Given the description of an element on the screen output the (x, y) to click on. 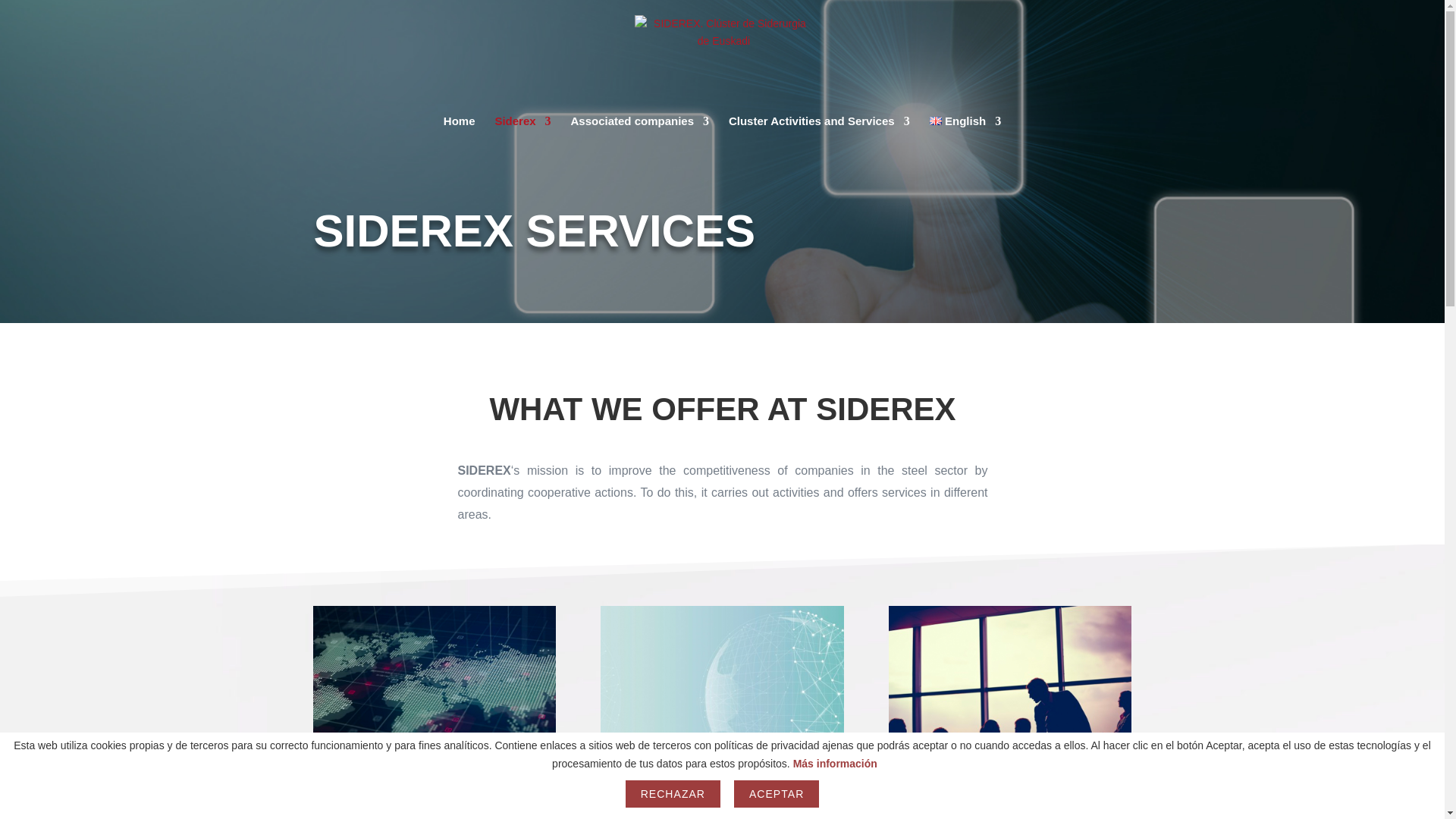
RECHAZAR (672, 793)
Cluster Activities and Services (819, 131)
Associated companies (639, 131)
English (965, 131)
Home (460, 131)
Siderex (522, 131)
ACEPTAR (776, 793)
